Given the description of an element on the screen output the (x, y) to click on. 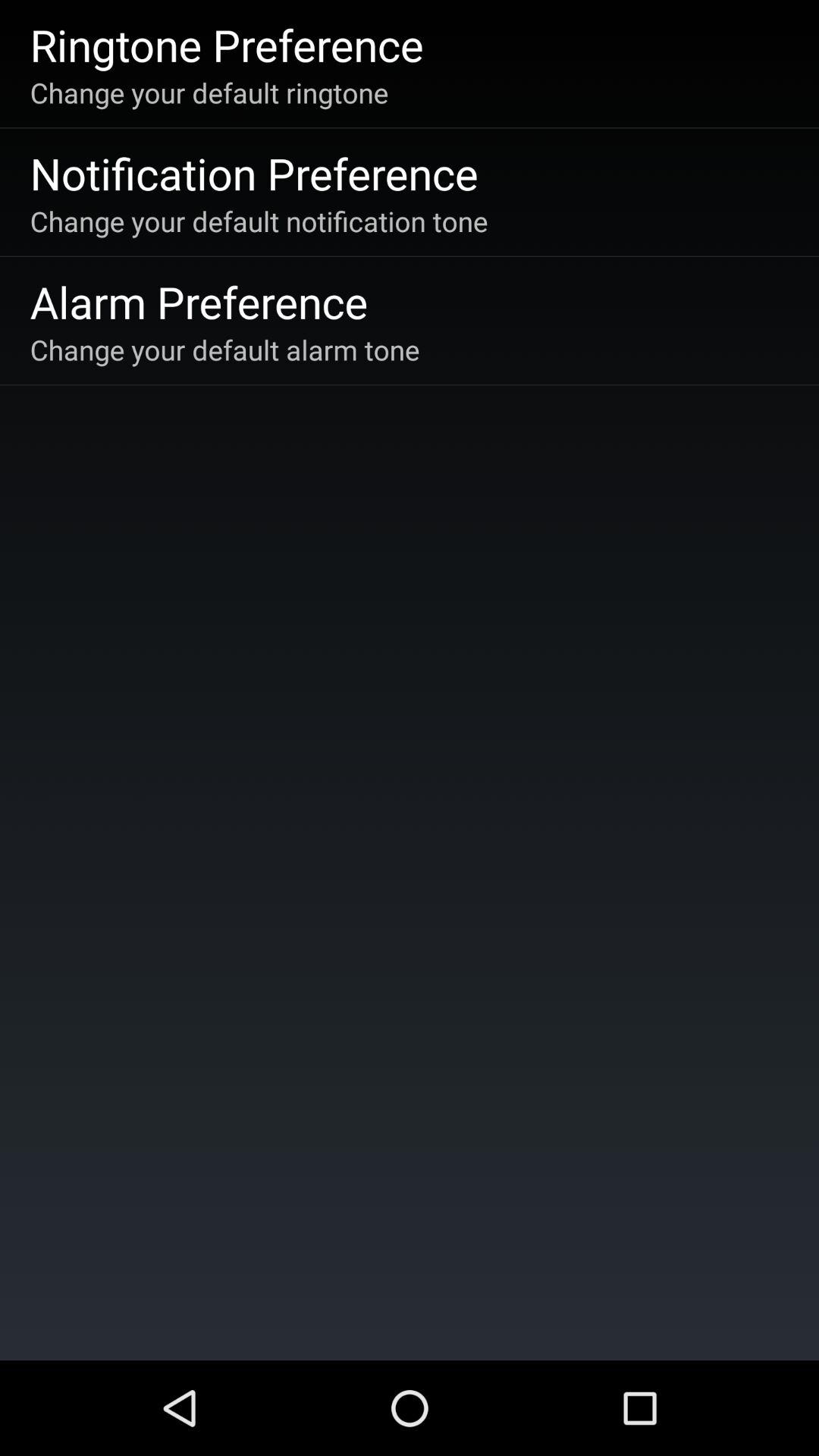
jump until the notification preference item (254, 172)
